Given the description of an element on the screen output the (x, y) to click on. 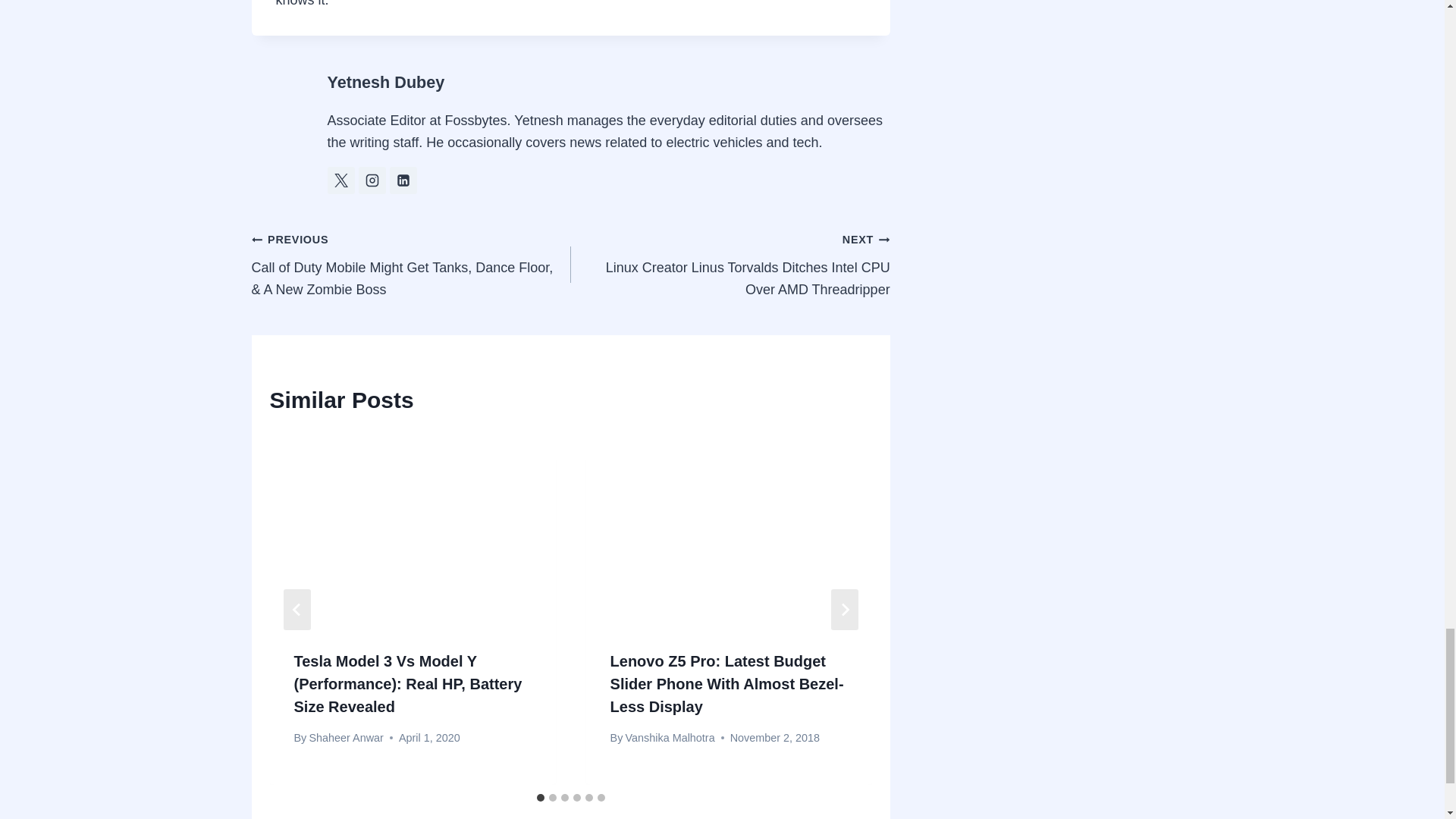
Shaheer Anwar (345, 736)
Follow Yetnesh Dubey on X formerly Twitter (341, 180)
Follow Yetnesh Dubey on Instagram (371, 180)
Yetnesh Dubey (386, 81)
Follow Yetnesh Dubey on Linkedin (403, 180)
Vanshika Malhotra (670, 736)
Posts by Yetnesh Dubey (386, 81)
